Given the description of an element on the screen output the (x, y) to click on. 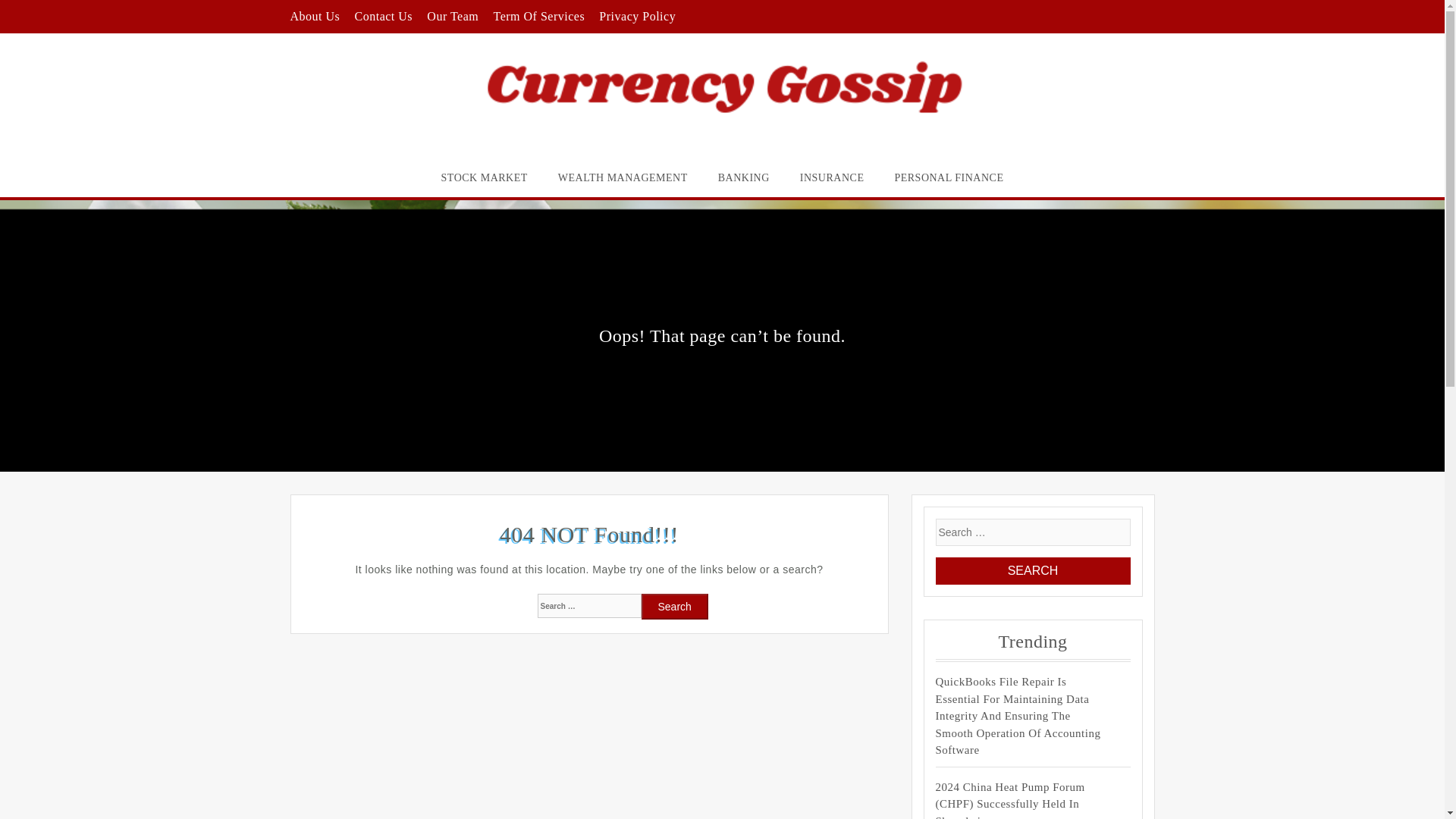
About Us (314, 15)
Search (1033, 570)
INSURANCE (831, 177)
Our Team (452, 15)
Search (674, 606)
Search (1033, 570)
STOCK MARKET (484, 177)
Search (674, 606)
Privacy Policy (636, 15)
